Given the description of an element on the screen output the (x, y) to click on. 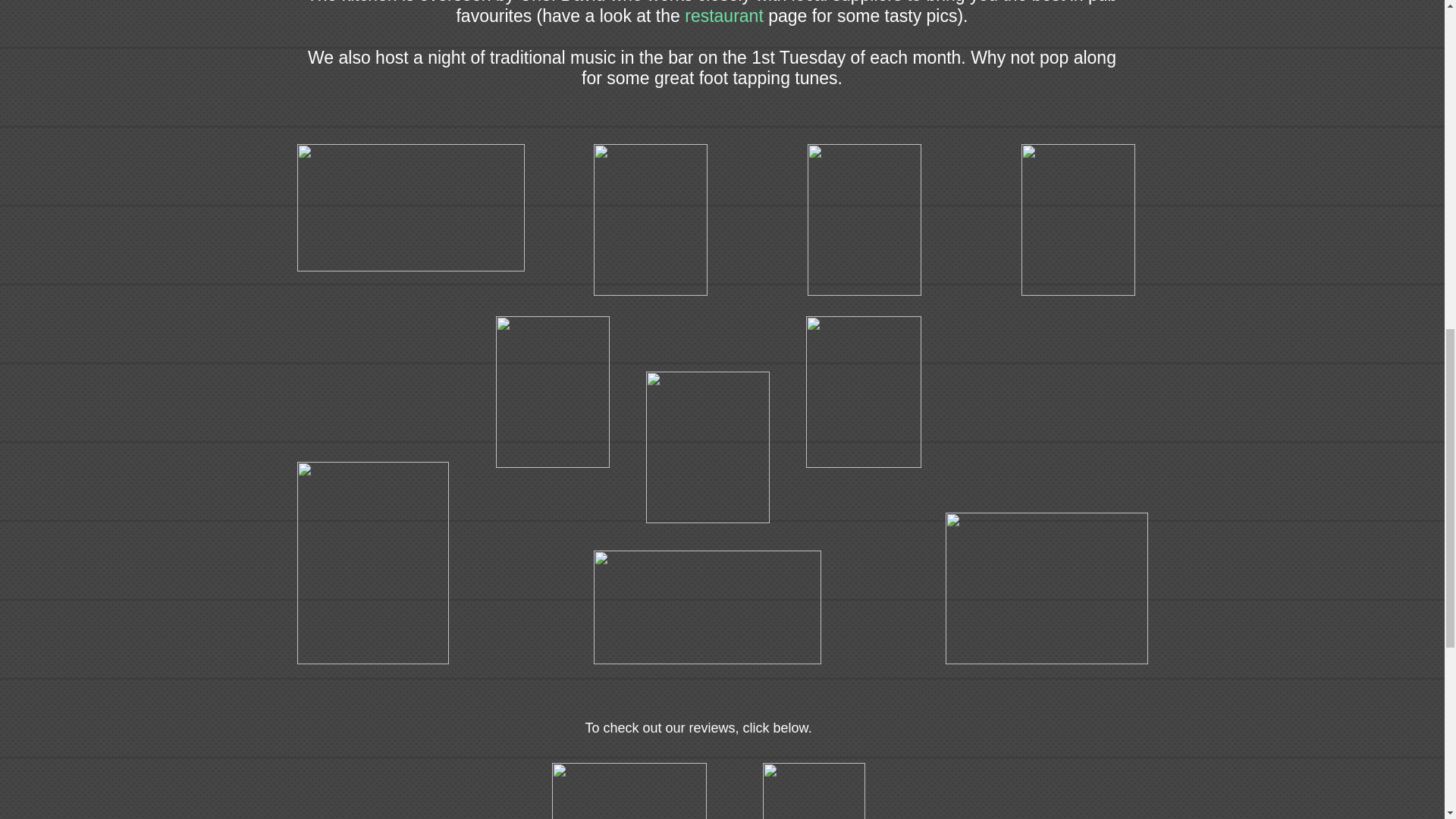
restaurant (723, 15)
